Given the description of an element on the screen output the (x, y) to click on. 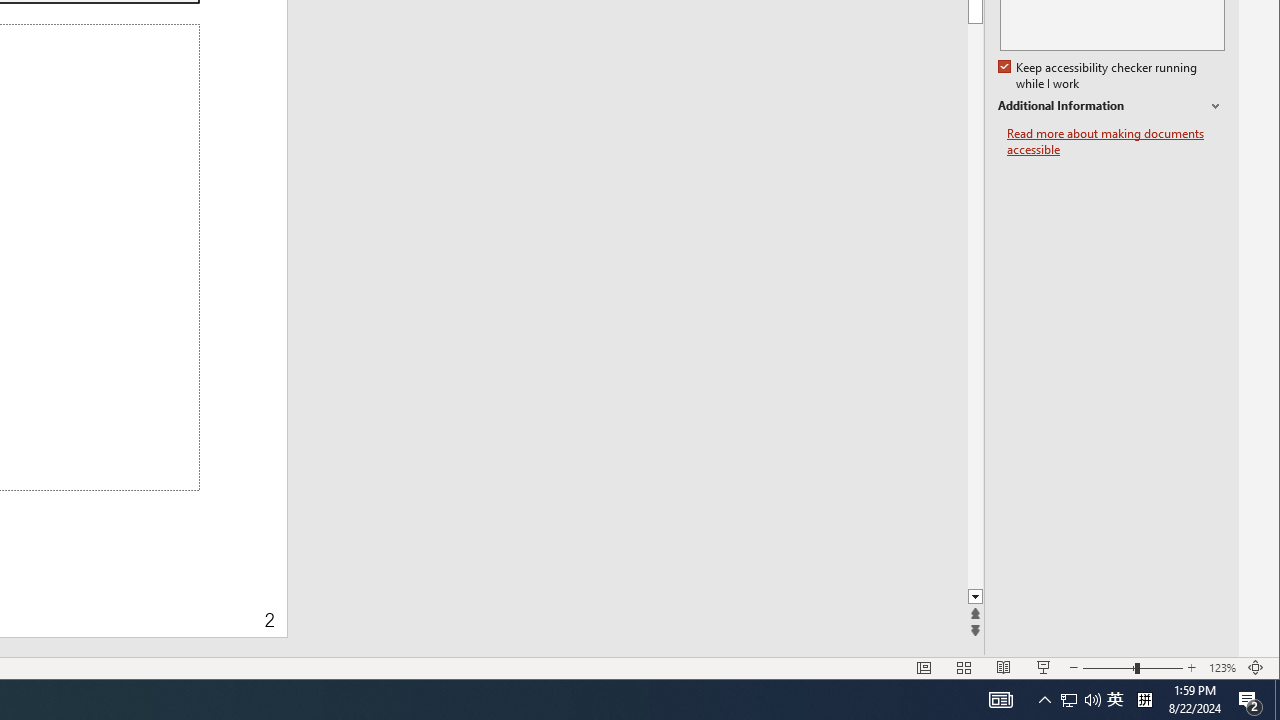
Page down (1230, 305)
Action Center, 2 new notifications (1250, 699)
